Given the description of an element on the screen output the (x, y) to click on. 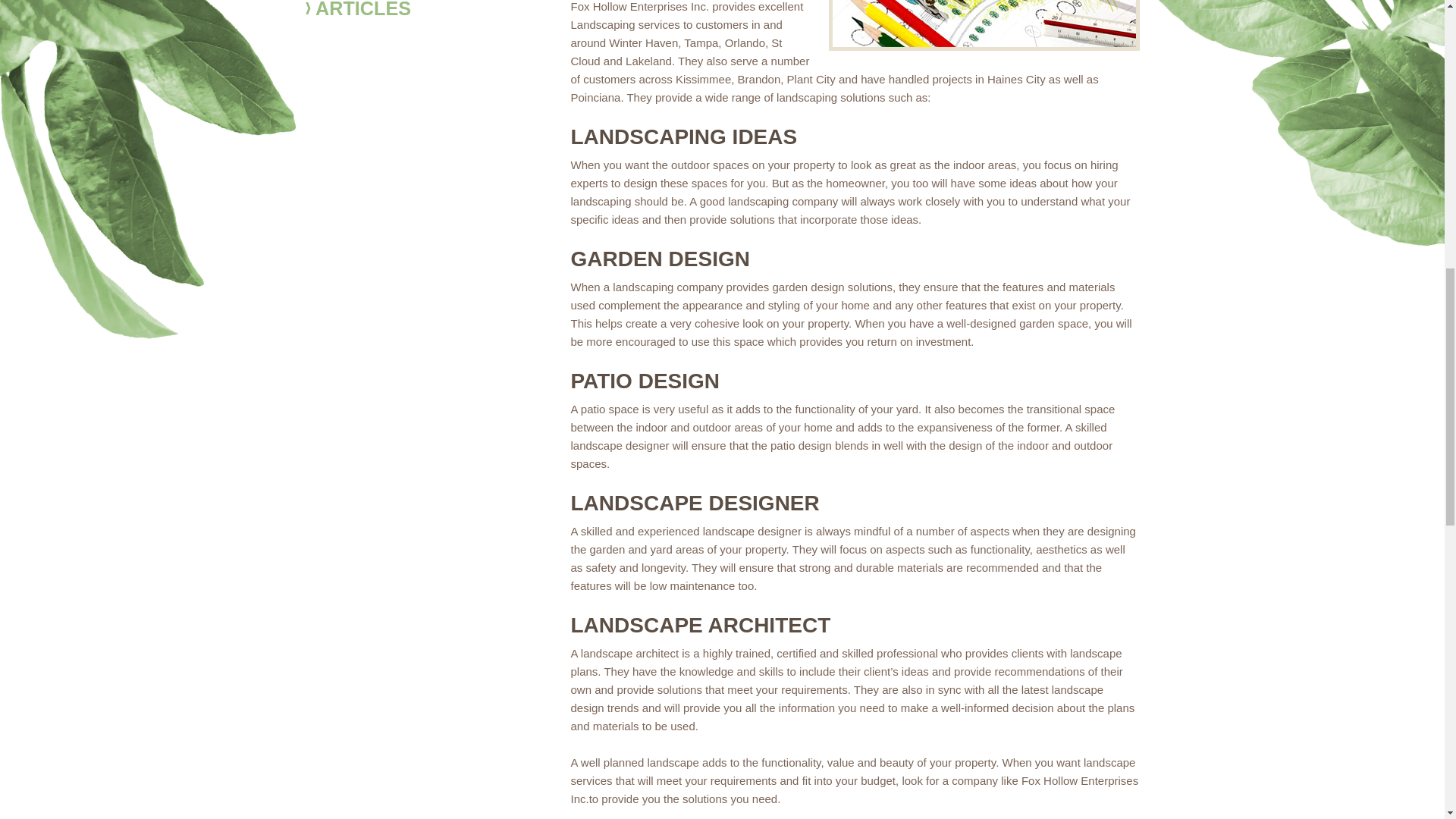
ARTICLES (403, 10)
